Given the description of an element on the screen output the (x, y) to click on. 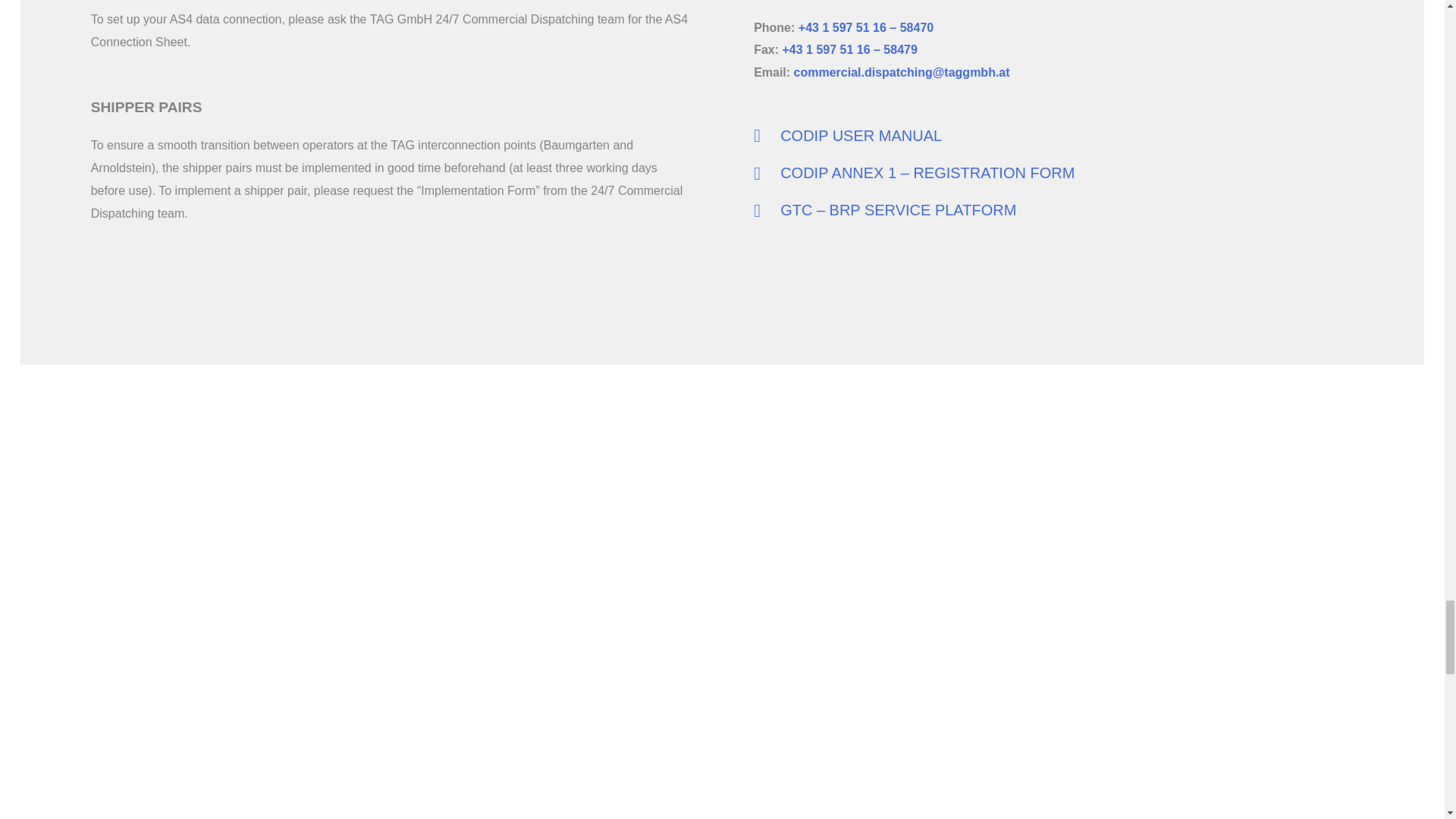
CODIP USER MANUAL (1054, 135)
